Given the description of an element on the screen output the (x, y) to click on. 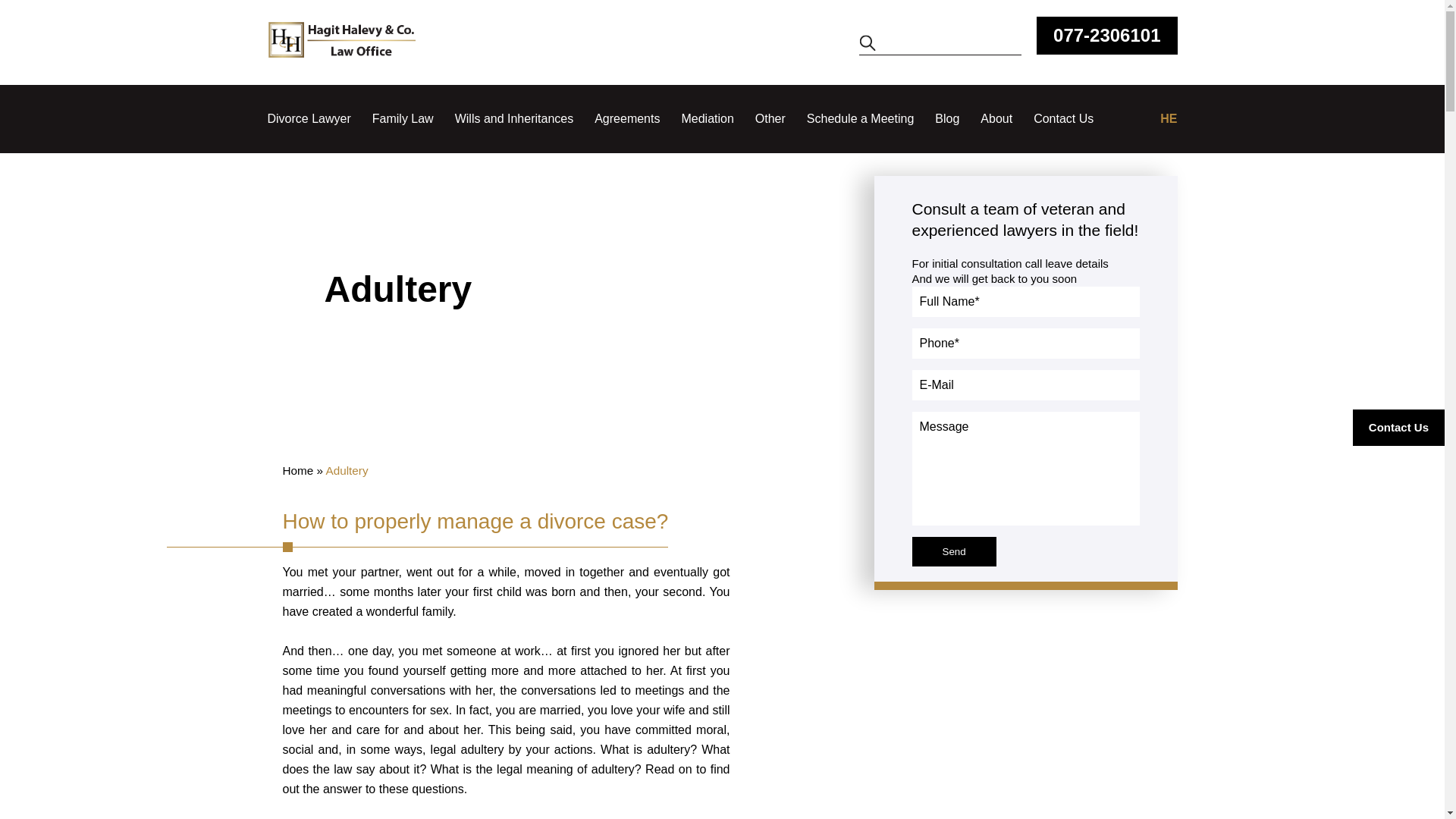
Wills and Inheritances (513, 118)
Mediation (707, 118)
Areas Of Expertise (402, 118)
077-2306101 (1106, 35)
HE (1168, 118)
Search (867, 43)
Send (953, 551)
Agreements (626, 118)
Search (867, 43)
Divorce Lawyer (308, 118)
Search (867, 43)
Family Law (402, 118)
